Given the description of an element on the screen output the (x, y) to click on. 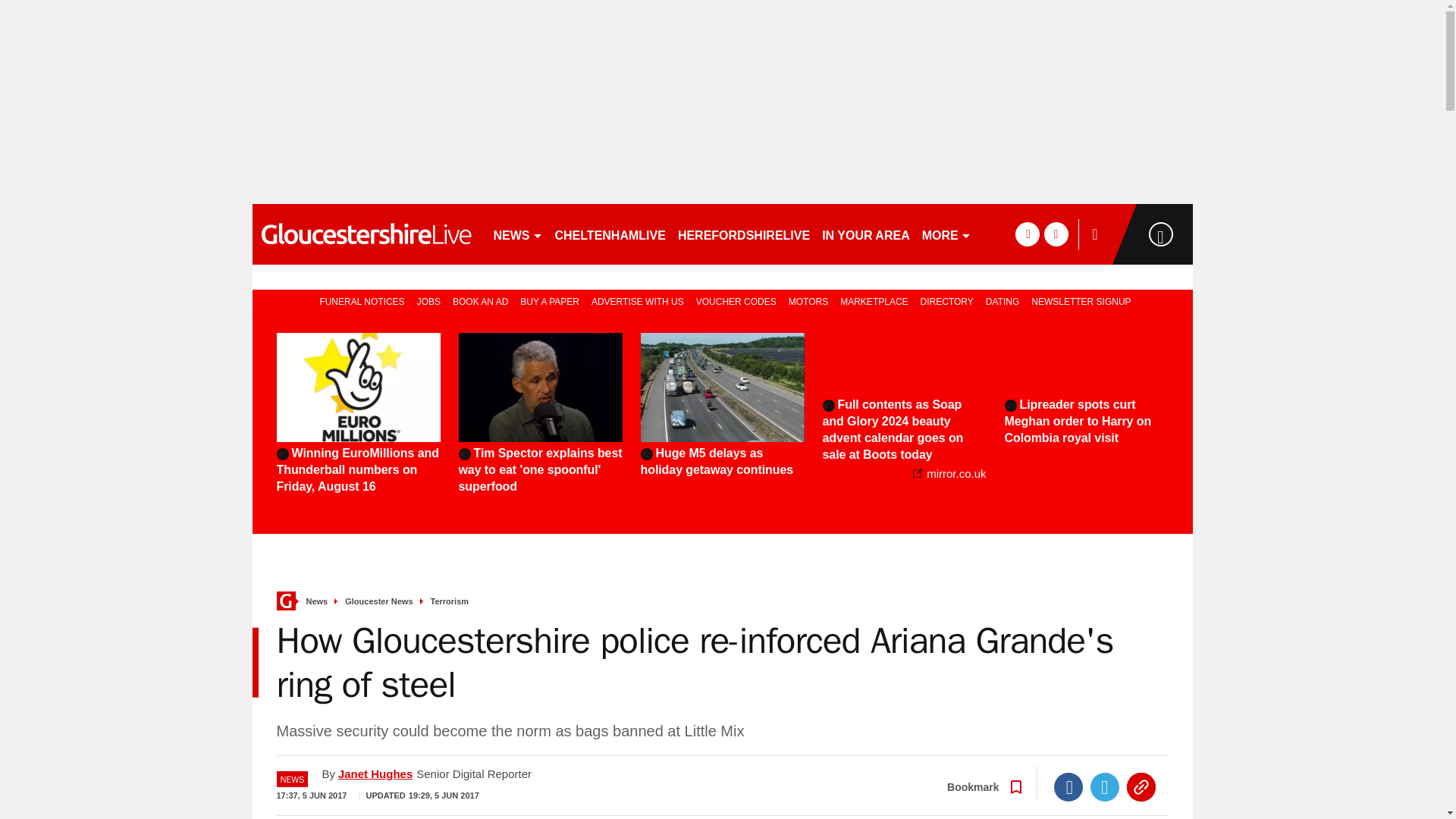
gloucestershirelive (365, 233)
Twitter (1104, 787)
Facebook (1068, 787)
MORE (945, 233)
CHELTENHAMLIVE (609, 233)
NEWS (517, 233)
IN YOUR AREA (865, 233)
twitter (1055, 233)
HEREFORDSHIRELIVE (743, 233)
facebook (1026, 233)
